Given the description of an element on the screen output the (x, y) to click on. 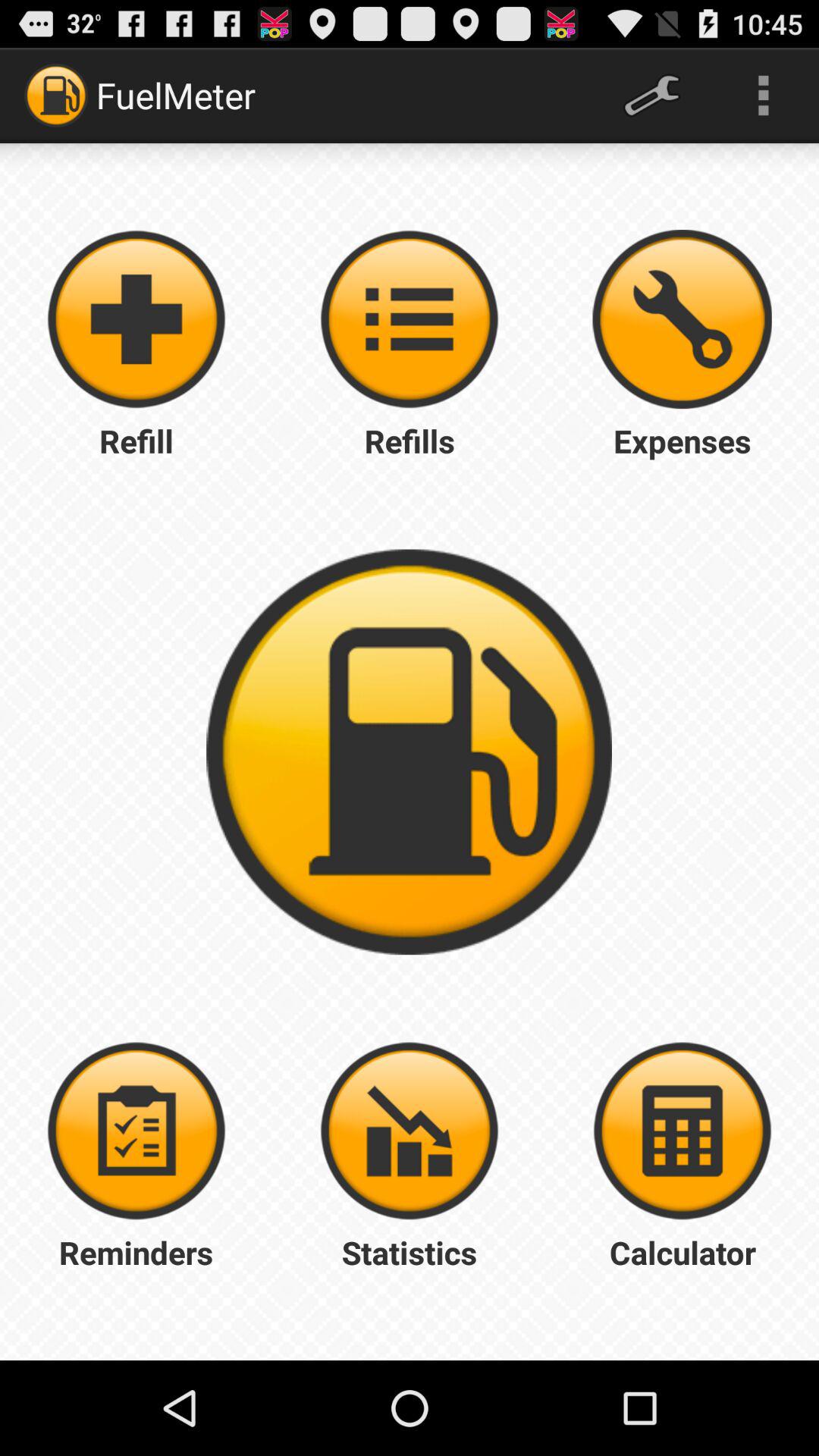
reminder button (136, 1130)
